Given the description of an element on the screen output the (x, y) to click on. 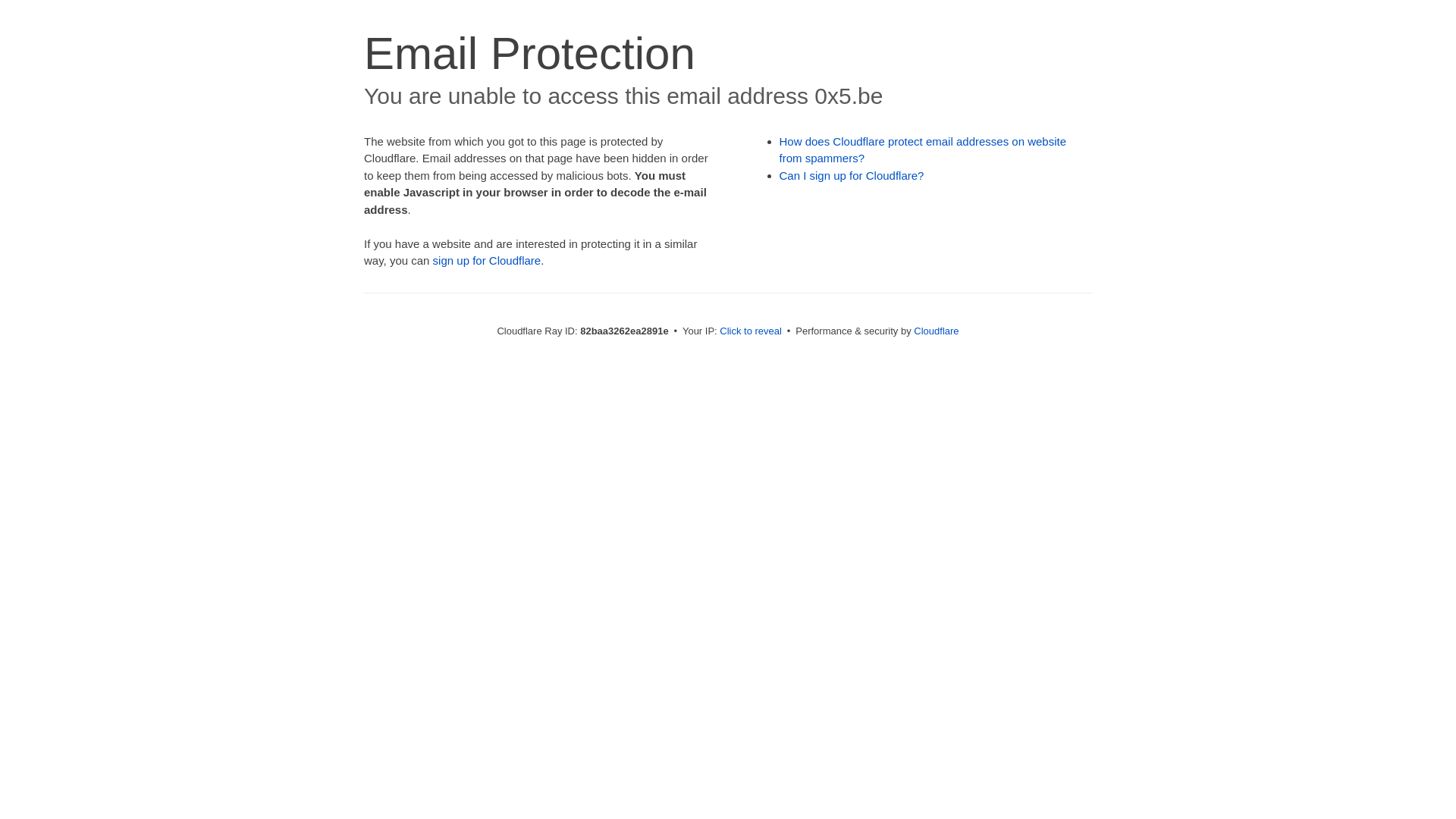
Click to reveal Element type: text (750, 330)
Can I sign up for Cloudflare? Element type: text (851, 175)
sign up for Cloudflare Element type: text (487, 260)
Cloudflare Element type: text (935, 330)
